Given the description of an element on the screen output the (x, y) to click on. 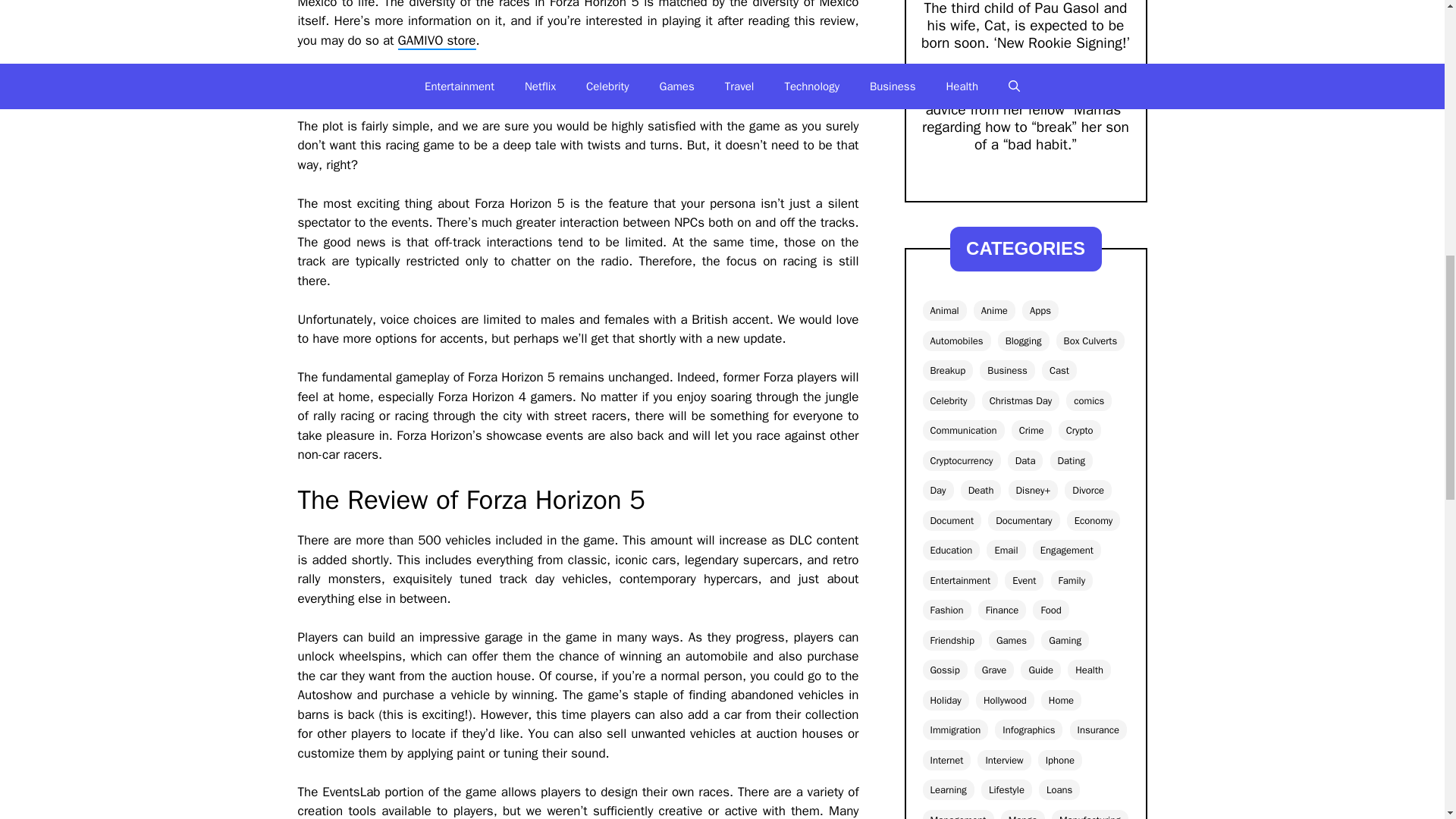
Apps (1040, 310)
Blogging (1023, 340)
GAMIVO store (436, 40)
Anime (994, 310)
Box Culverts (1091, 340)
Automobiles (955, 340)
Scroll back to top (1406, 720)
Animal (943, 310)
